Given the description of an element on the screen output the (x, y) to click on. 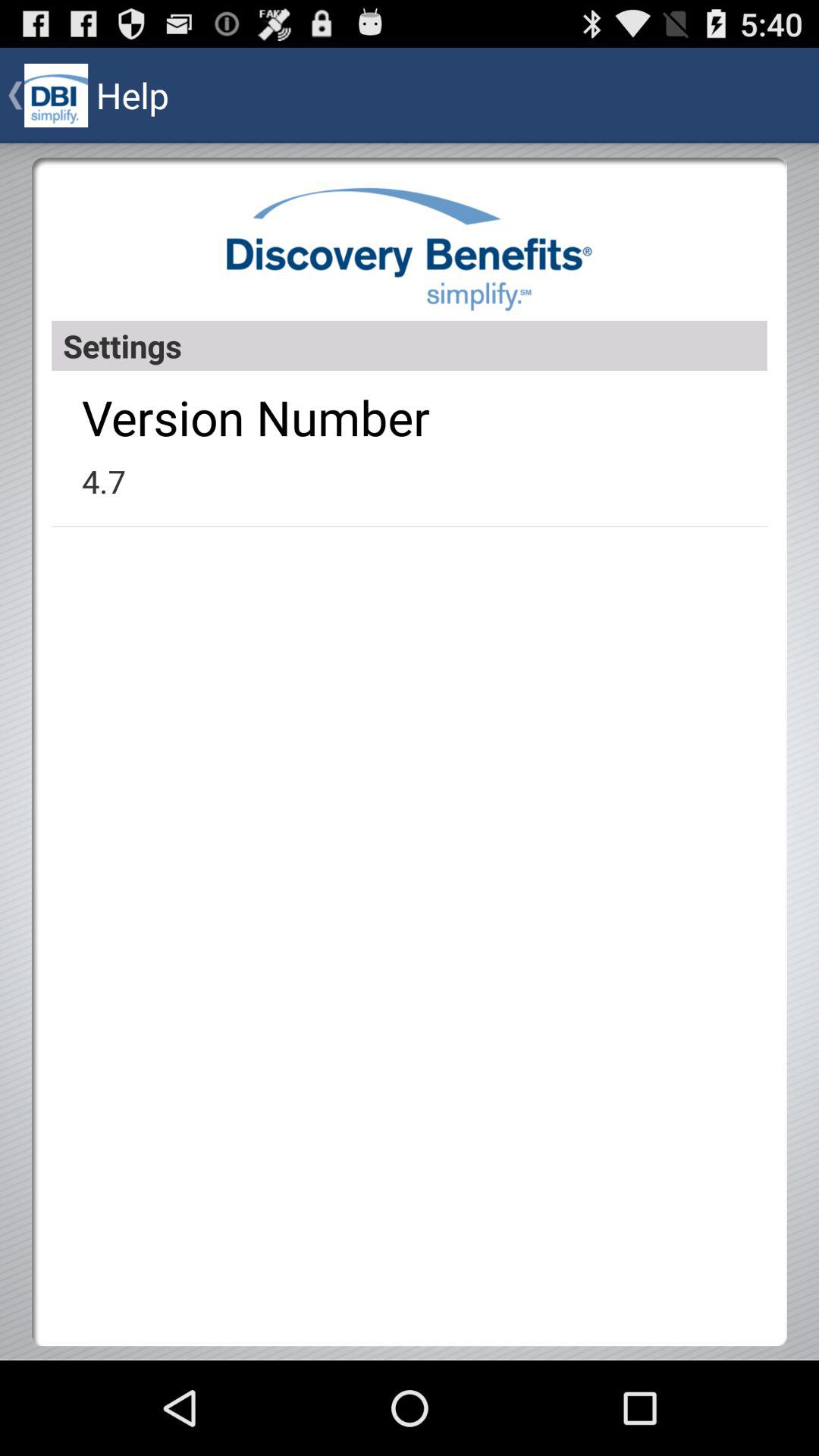
jump to the version number app (255, 417)
